Given the description of an element on the screen output the (x, y) to click on. 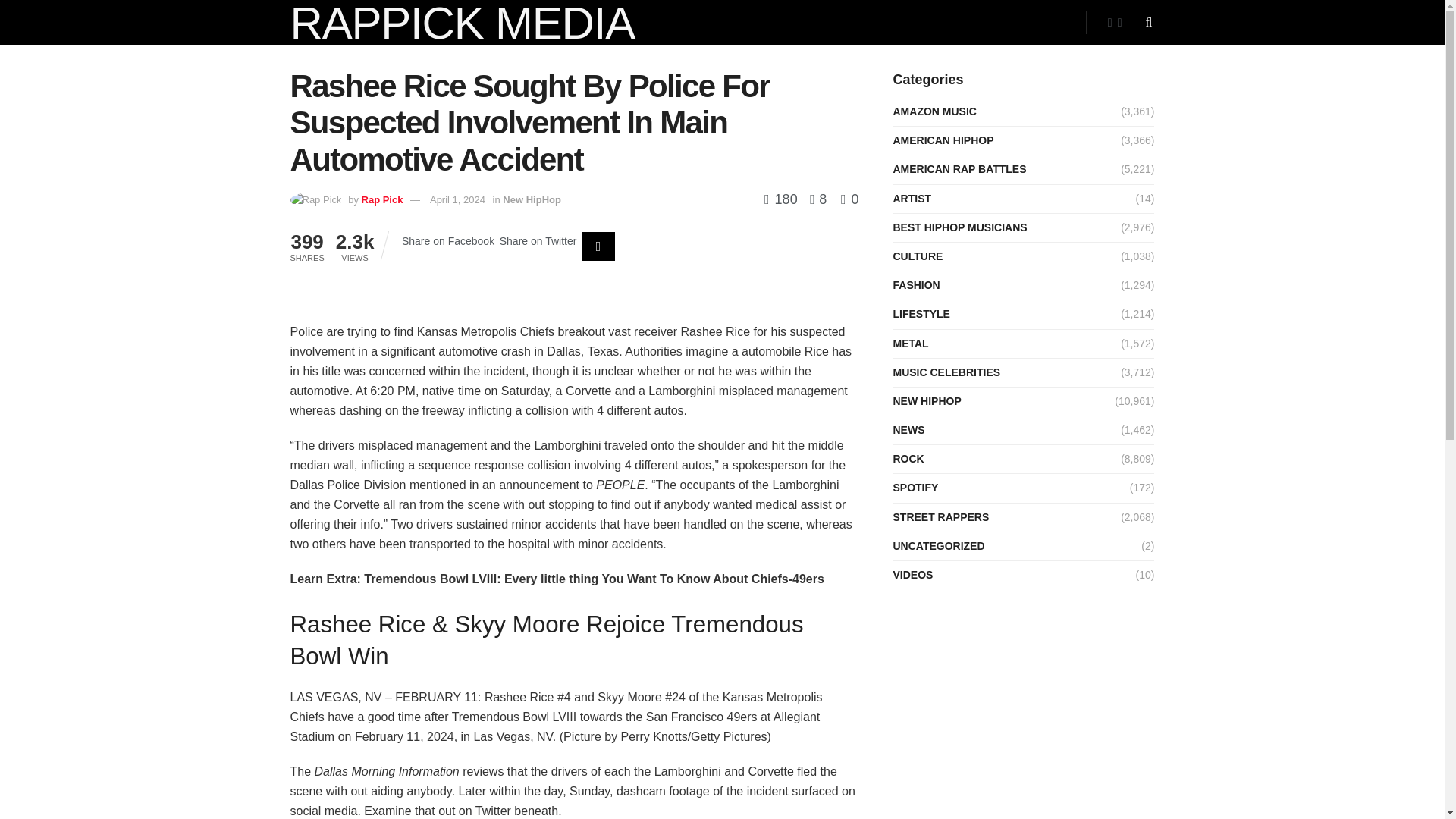
AMERICAN RAP BATTLES (959, 169)
MUSIC CELEBRITIES (947, 372)
METAL (910, 342)
8 (814, 199)
Rap Pick (382, 199)
NEW HIPHOP (926, 401)
NEWS (908, 429)
180 (783, 199)
0 (850, 199)
New HipHop (531, 199)
